Given the description of an element on the screen output the (x, y) to click on. 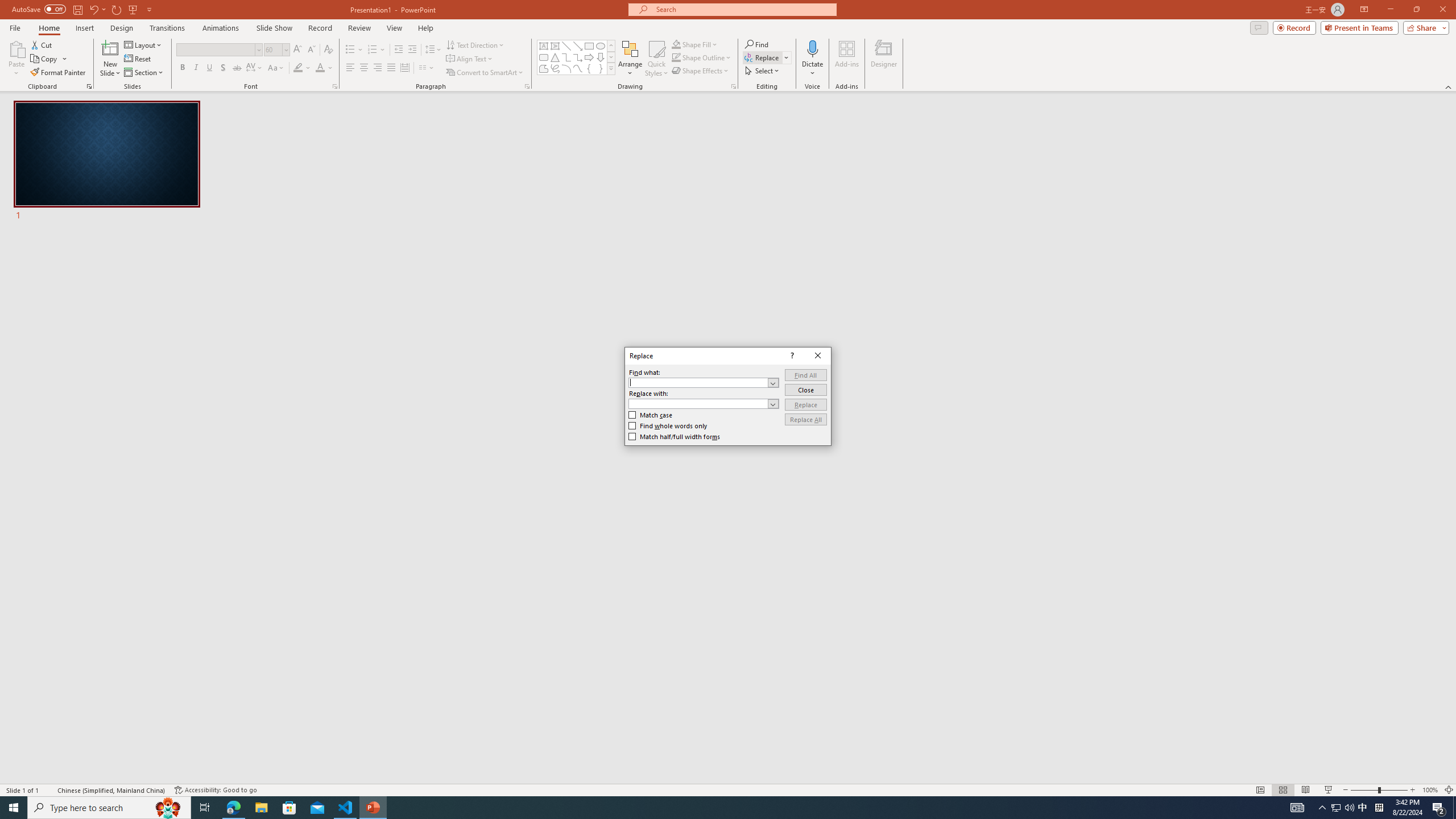
Increase Font Size (297, 49)
Distributed (404, 67)
Match half/full width forms (674, 436)
Shape Effects (700, 69)
Decrease Font Size (310, 49)
Connector: Elbow Arrow (577, 57)
Align Text (470, 58)
Character Spacing (254, 67)
